Given the description of an element on the screen output the (x, y) to click on. 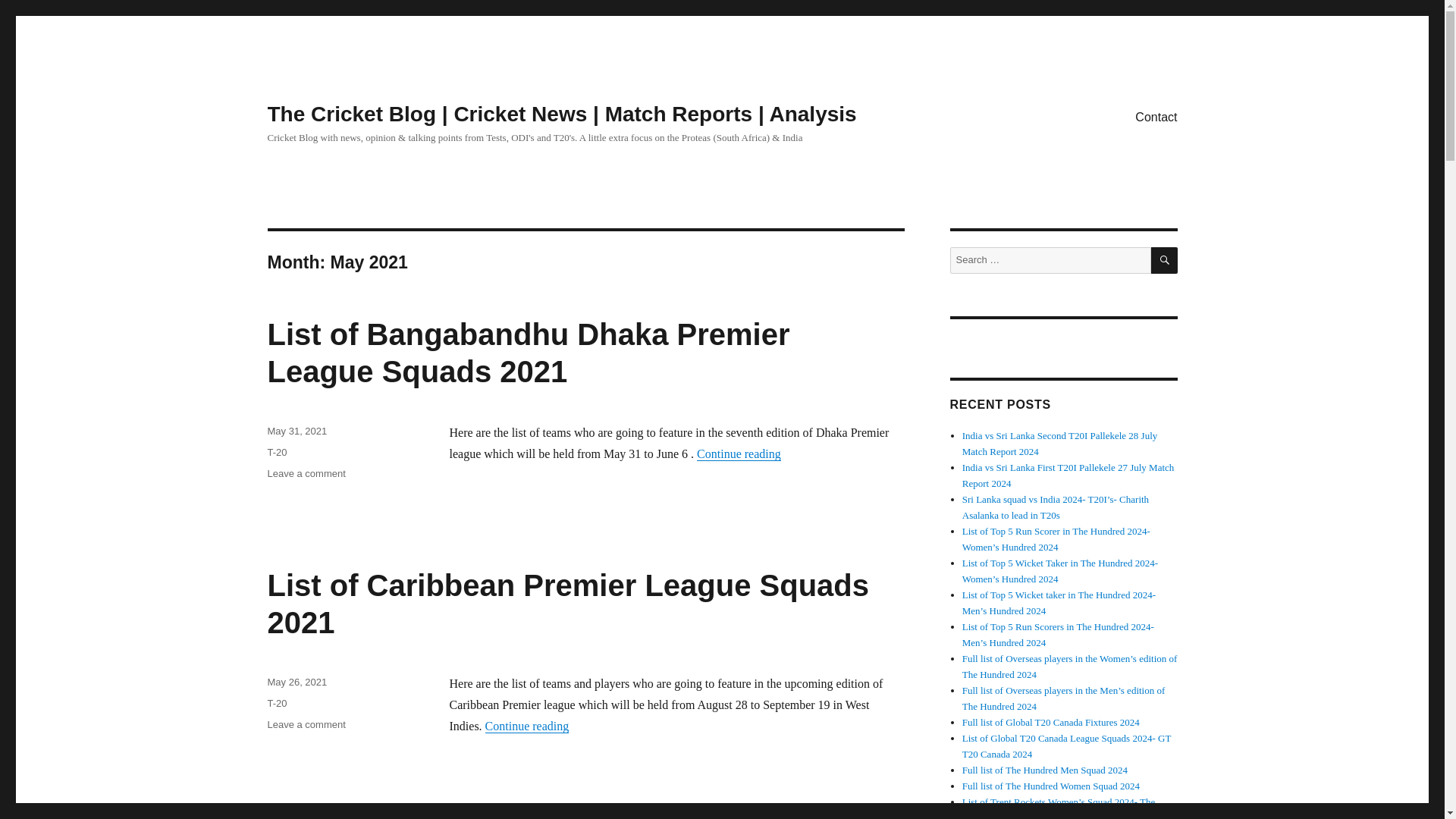
T-20 (276, 703)
List of Caribbean Premier League Squads 2021 (567, 603)
May 31, 2021 (296, 430)
T-20 (276, 451)
Contact (1156, 116)
List of Bangabandhu Dhaka Premier League Squads 2021 (527, 352)
May 26, 2021 (296, 681)
